Given the description of an element on the screen output the (x, y) to click on. 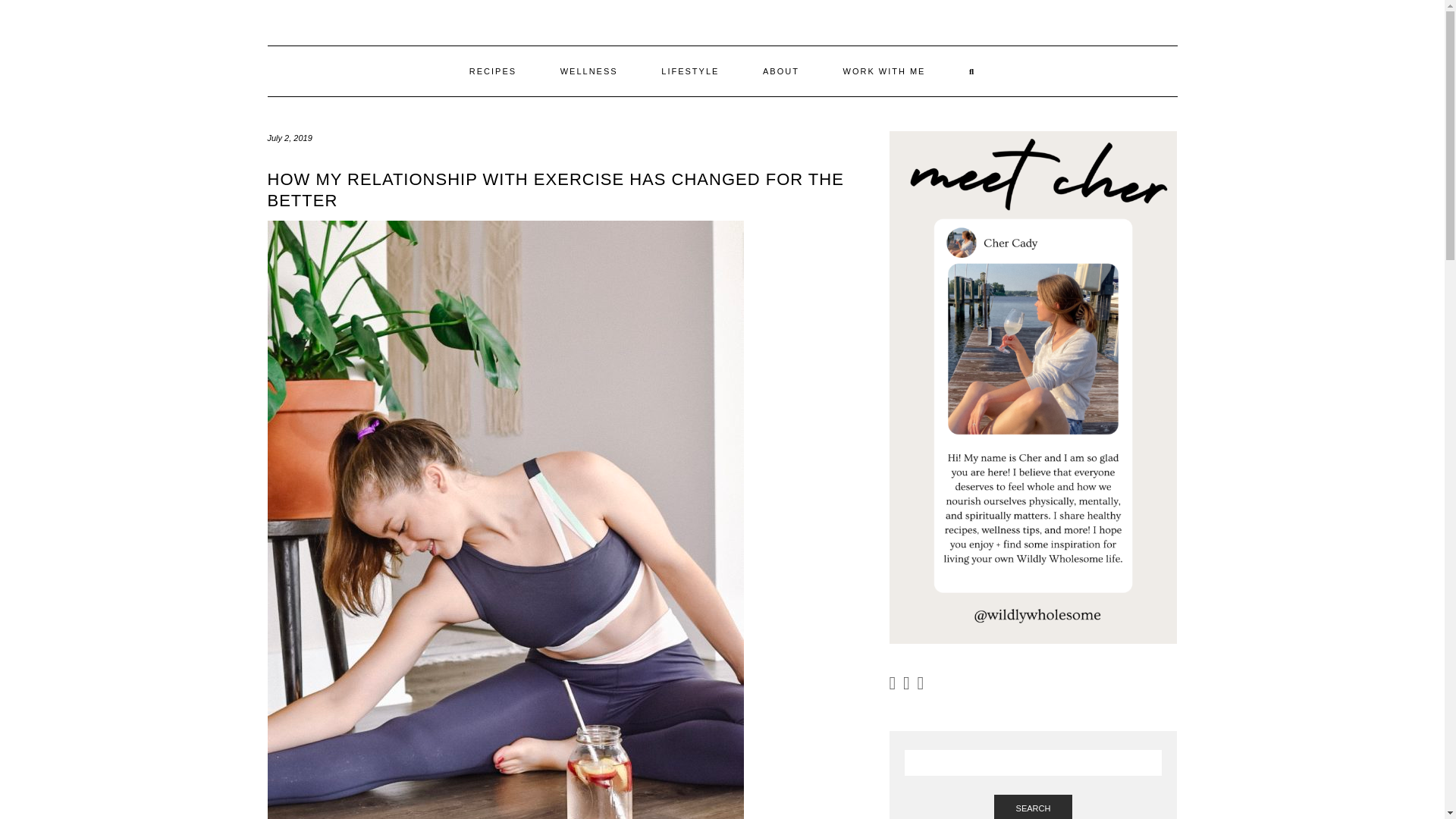
WELLNESS (589, 70)
SEARCH (1033, 806)
RECIPES (492, 70)
LIFESTYLE (689, 70)
WORK WITH ME (883, 70)
ABOUT (780, 70)
